Given the description of an element on the screen output the (x, y) to click on. 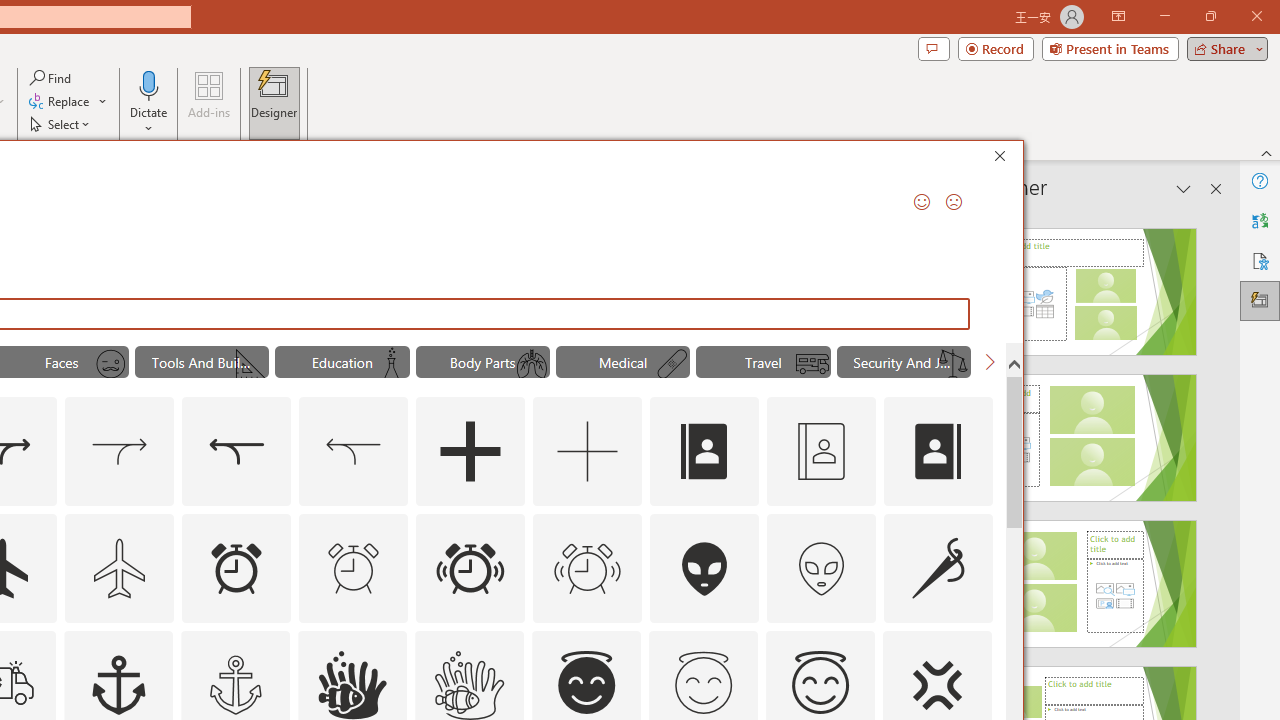
outline (820, 685)
Send a Smile (922, 201)
Thumbnail (977, 645)
"Travel" Icons. (763, 362)
AutomationID: Icons_Acquisition_RTL_M (353, 452)
AutomationID: Icons_AddressBook_RTL (938, 452)
Send a Frown (954, 201)
AutomationID: Icons_Add_M (587, 452)
